Given the description of an element on the screen output the (x, y) to click on. 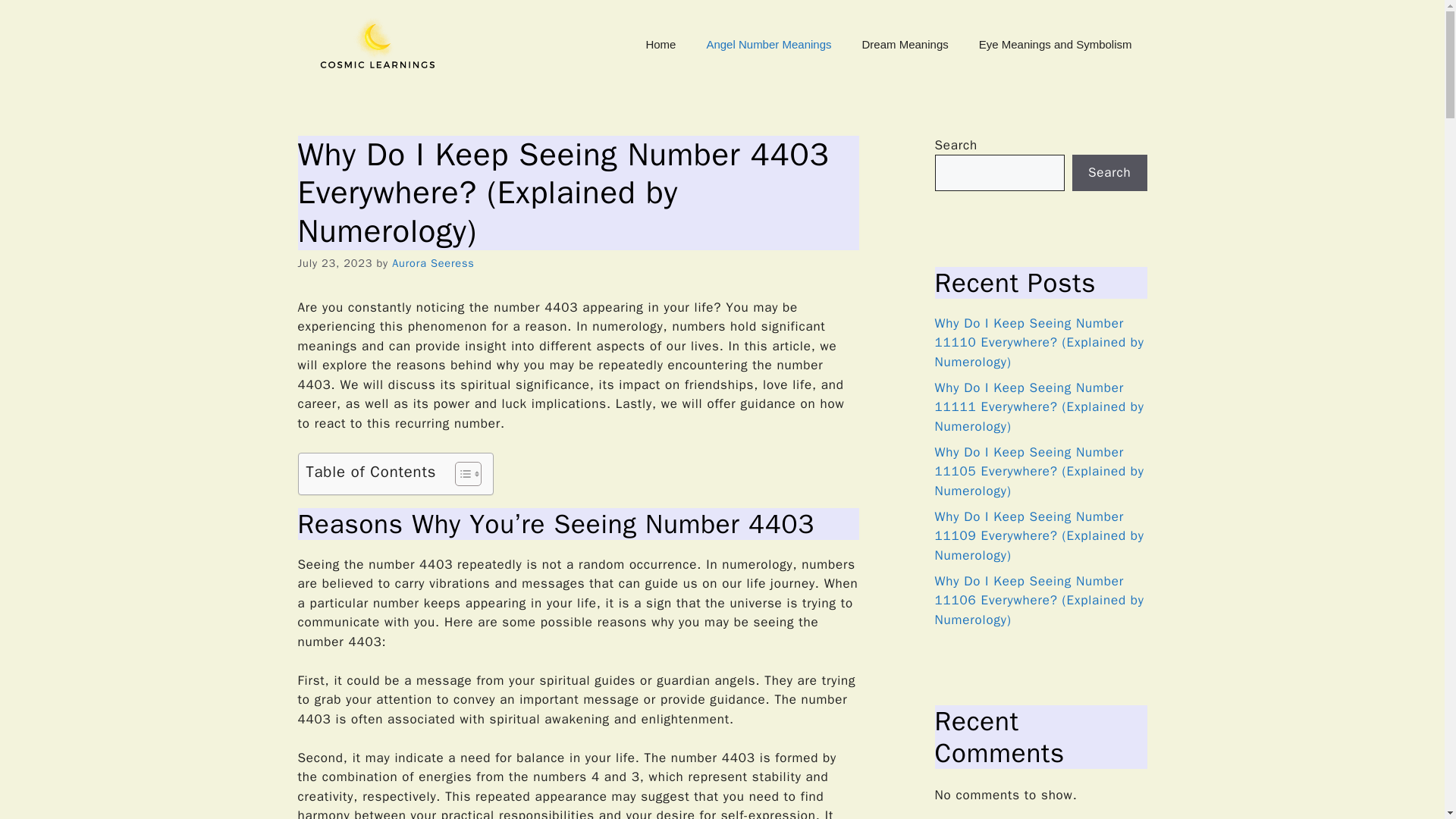
Home (660, 44)
View all posts by Aurora Seeress (432, 263)
Eye Meanings and Symbolism (1055, 44)
Aurora Seeress (432, 263)
Angel Number Meanings (767, 44)
Dream Meanings (905, 44)
